Given the description of an element on the screen output the (x, y) to click on. 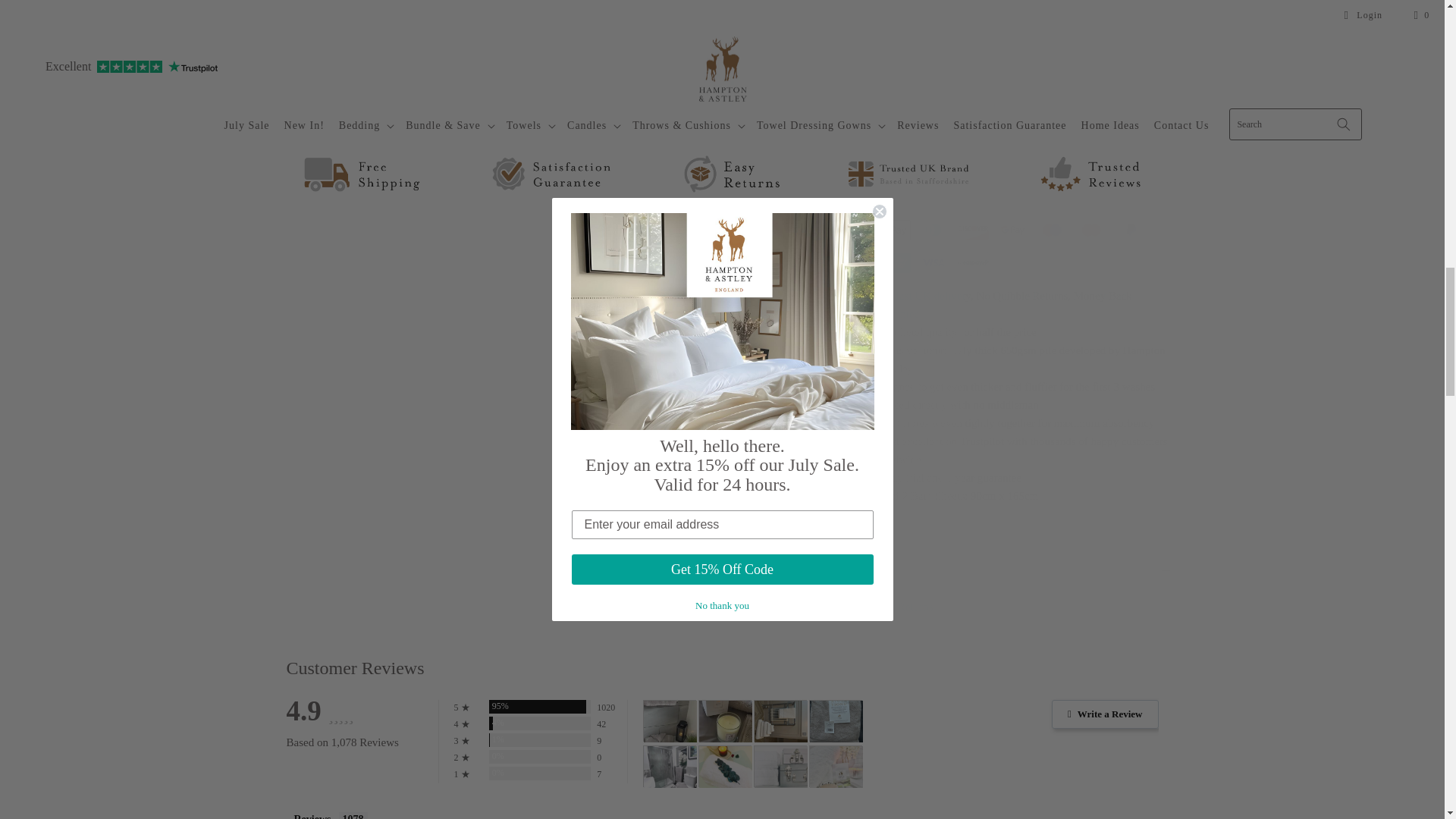
Free delivery (920, 284)
0 (1129, 102)
0 (1129, 26)
Satisfaction Guarantee (1001, 293)
Returns (1022, 284)
